Given the description of an element on the screen output the (x, y) to click on. 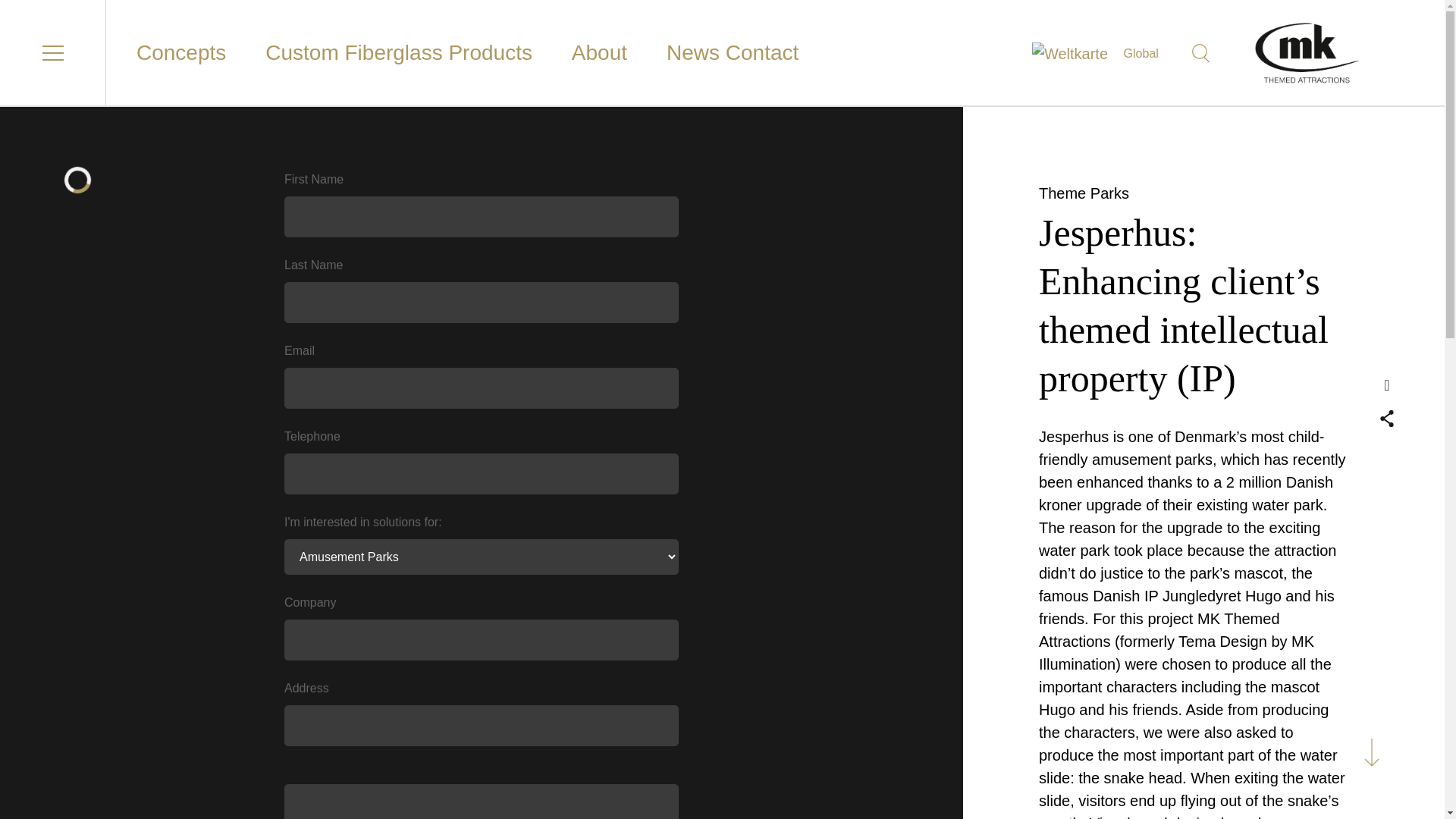
Concepts (180, 52)
Custom Fiberglass Products (398, 52)
MK Themed Attractions (1349, 52)
About (599, 52)
Contact (762, 52)
Contact (762, 52)
News (692, 52)
Theme Parks (1084, 193)
News (692, 52)
